Given the description of an element on the screen output the (x, y) to click on. 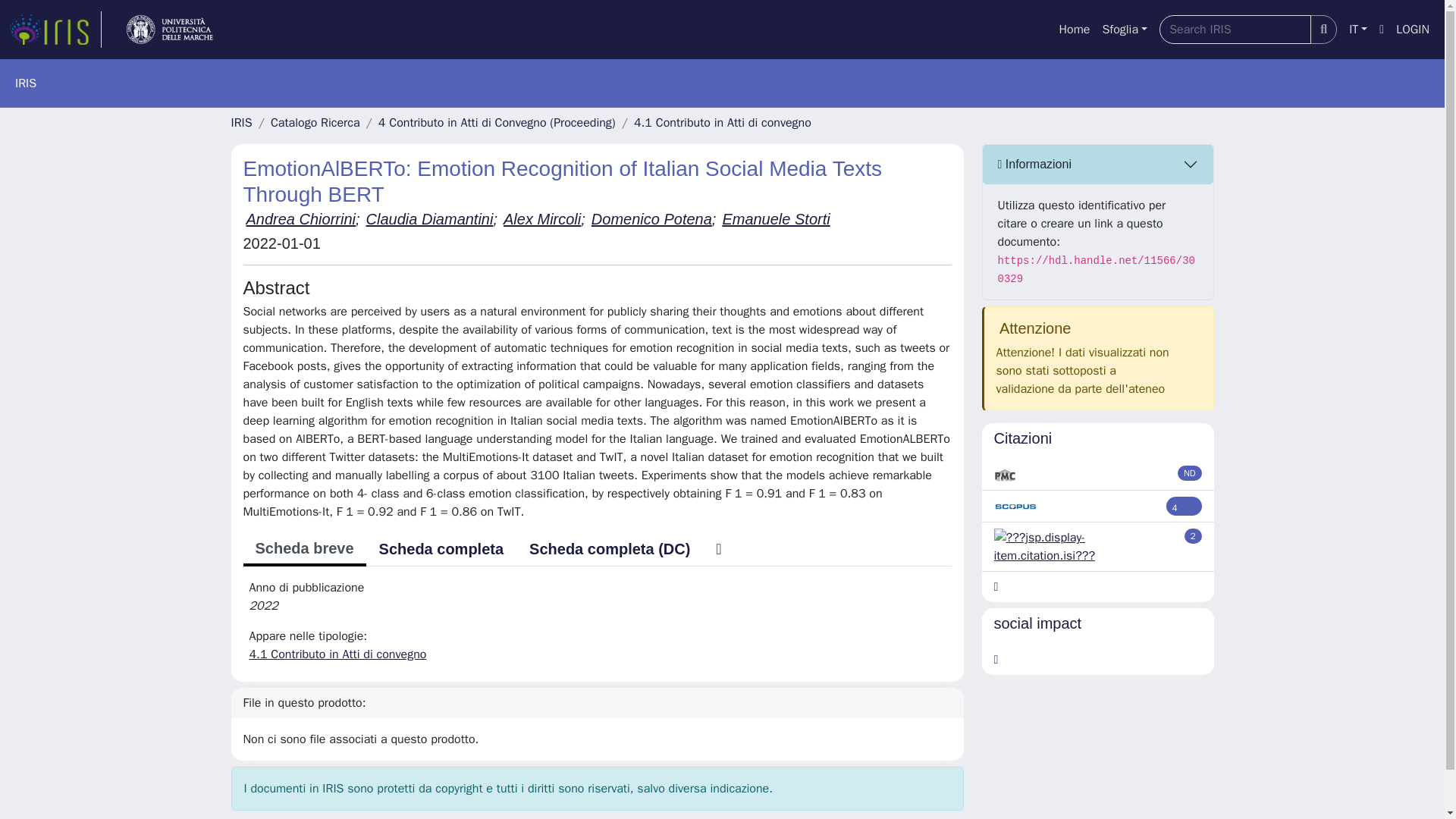
IT (1357, 29)
Andrea Chiorrini (300, 218)
 Informazioni (1097, 164)
Alex Mircoli (541, 218)
Sfoglia (1124, 29)
Home (1074, 29)
Emanuele Storti (775, 218)
Claudia Diamantini (429, 218)
Catalogo Ricerca (314, 122)
Scheda completa (441, 549)
